Given the description of an element on the screen output the (x, y) to click on. 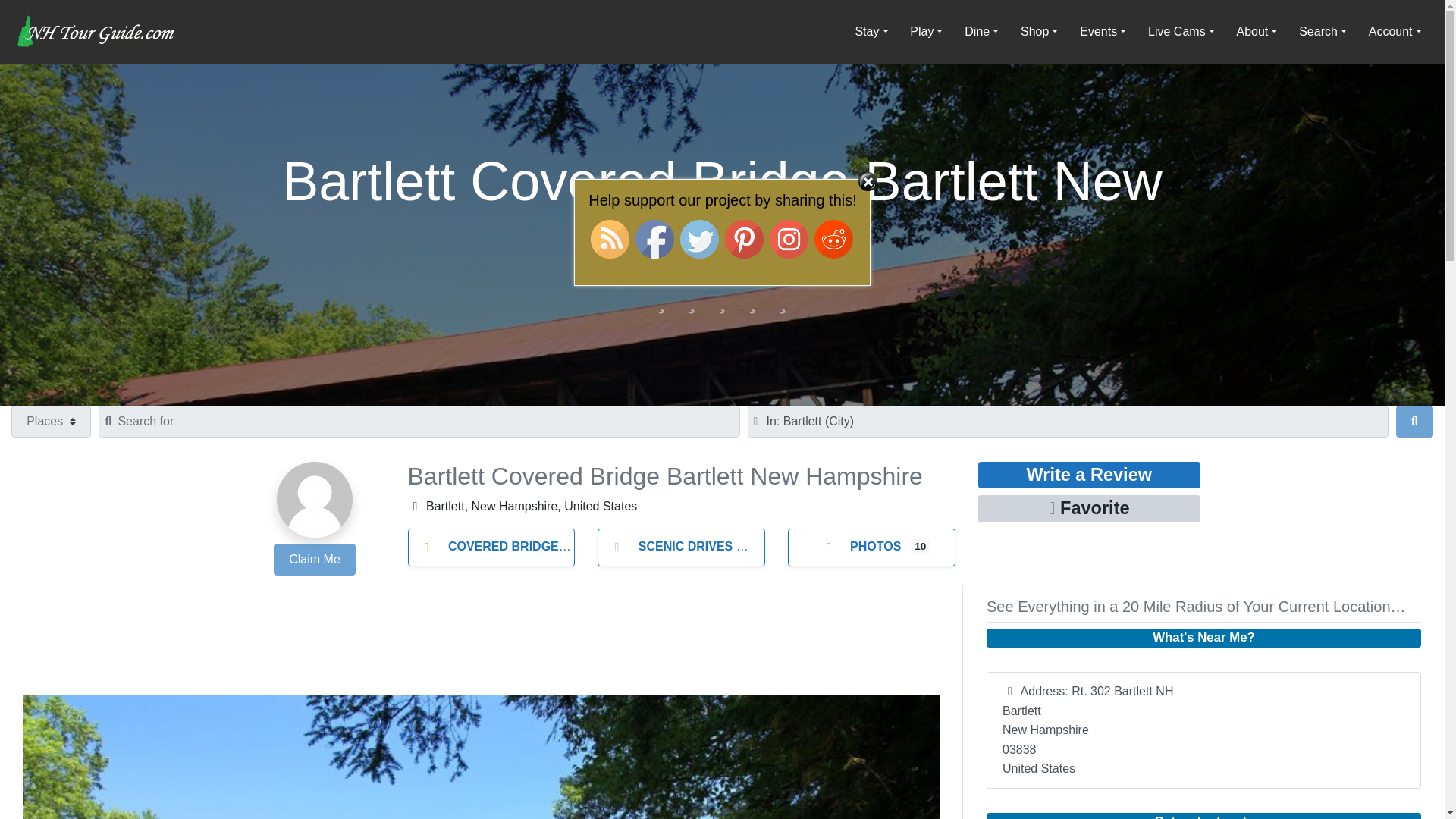
Stay (871, 31)
Advertisement (481, 642)
No rating yet! (721, 299)
Play (926, 31)
New Hampshire's Guide to All Places and Things to do in NH (95, 30)
